Given the description of an element on the screen output the (x, y) to click on. 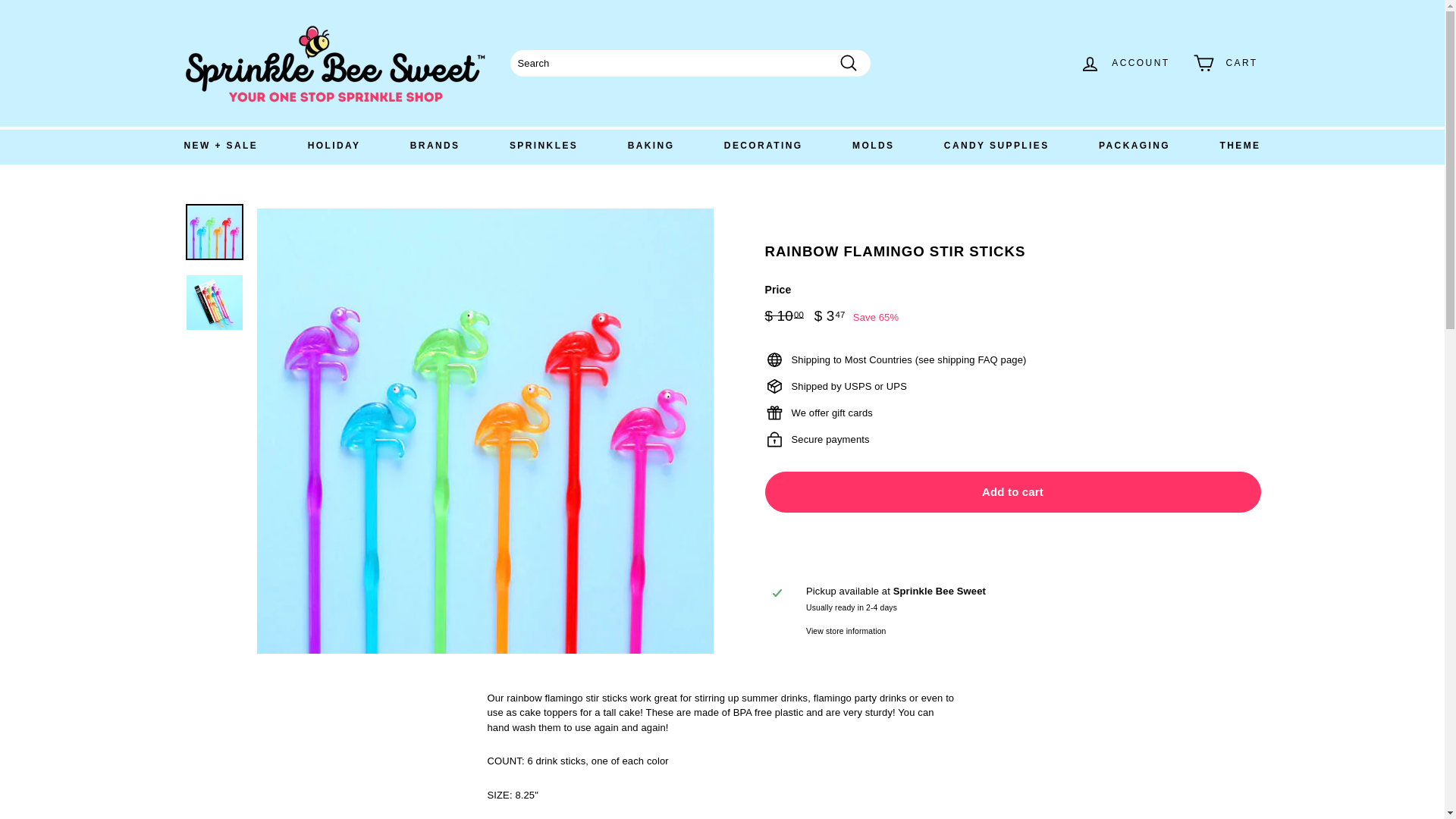
HOLIDAY (333, 145)
ACCOUNT (1123, 62)
